Given the description of an element on the screen output the (x, y) to click on. 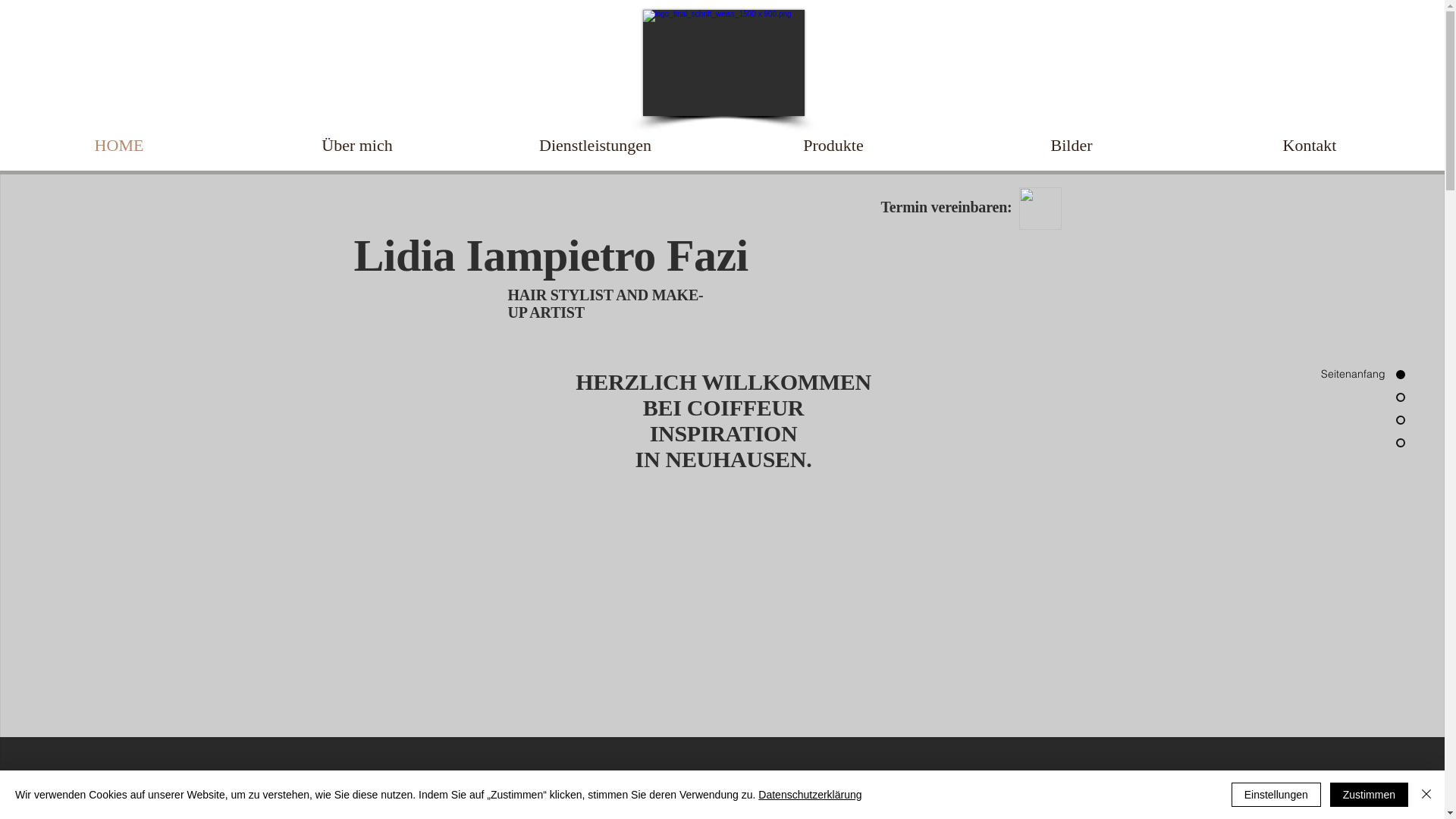
Kontakt Element type: text (1309, 145)
Termin vereinbaren: Element type: text (946, 206)
HOME Element type: text (119, 145)
Zustimmen Element type: text (1369, 794)
Produkte Element type: text (833, 145)
Dienstleistungen Element type: text (595, 145)
Bilder Element type: text (1071, 145)
Seitenanfang Element type: text (1348, 374)
Einstellungen Element type: text (1276, 794)
